Given the description of an element on the screen output the (x, y) to click on. 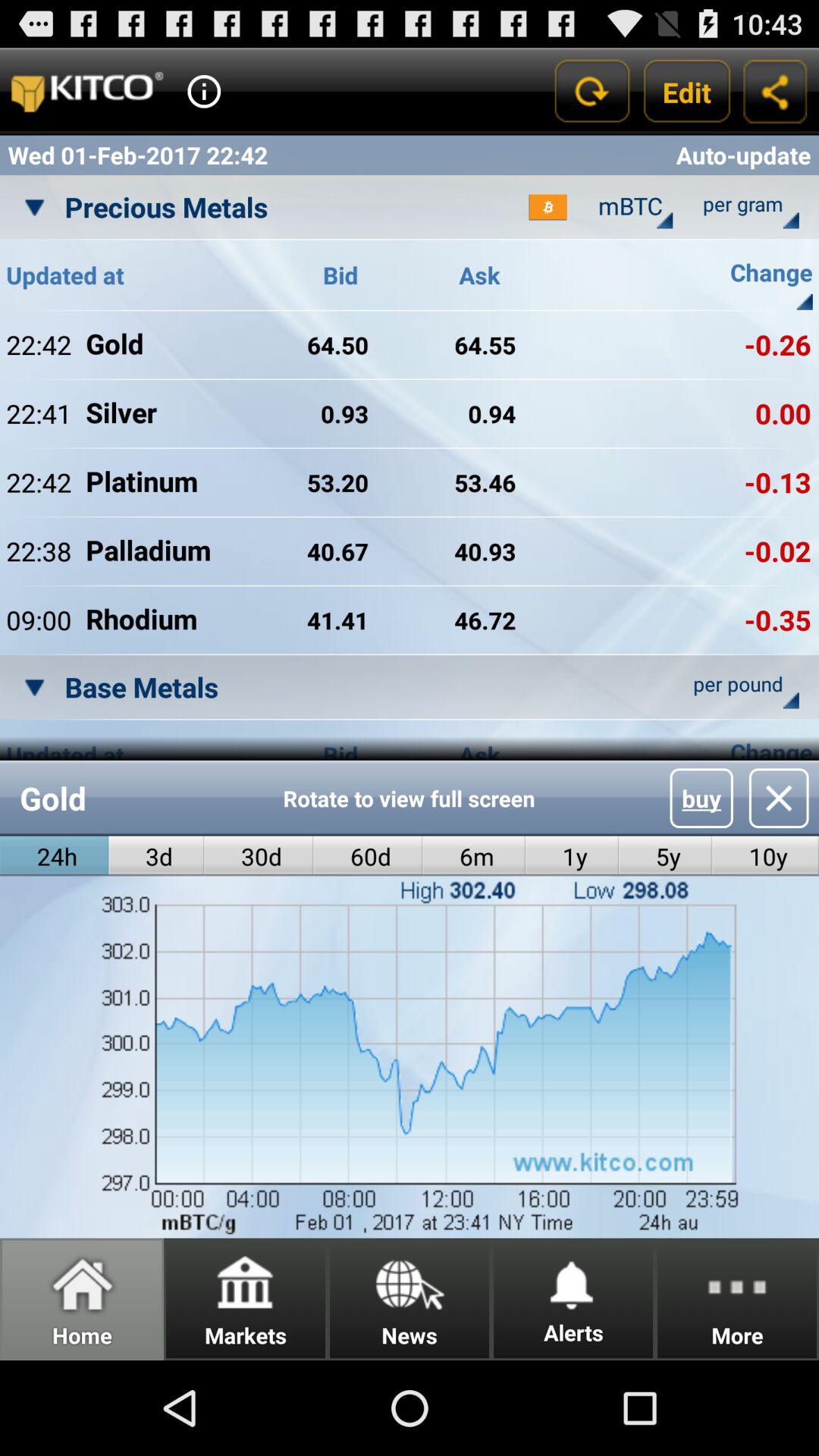
turn off radio button next to 24h (156, 856)
